Given the description of an element on the screen output the (x, y) to click on. 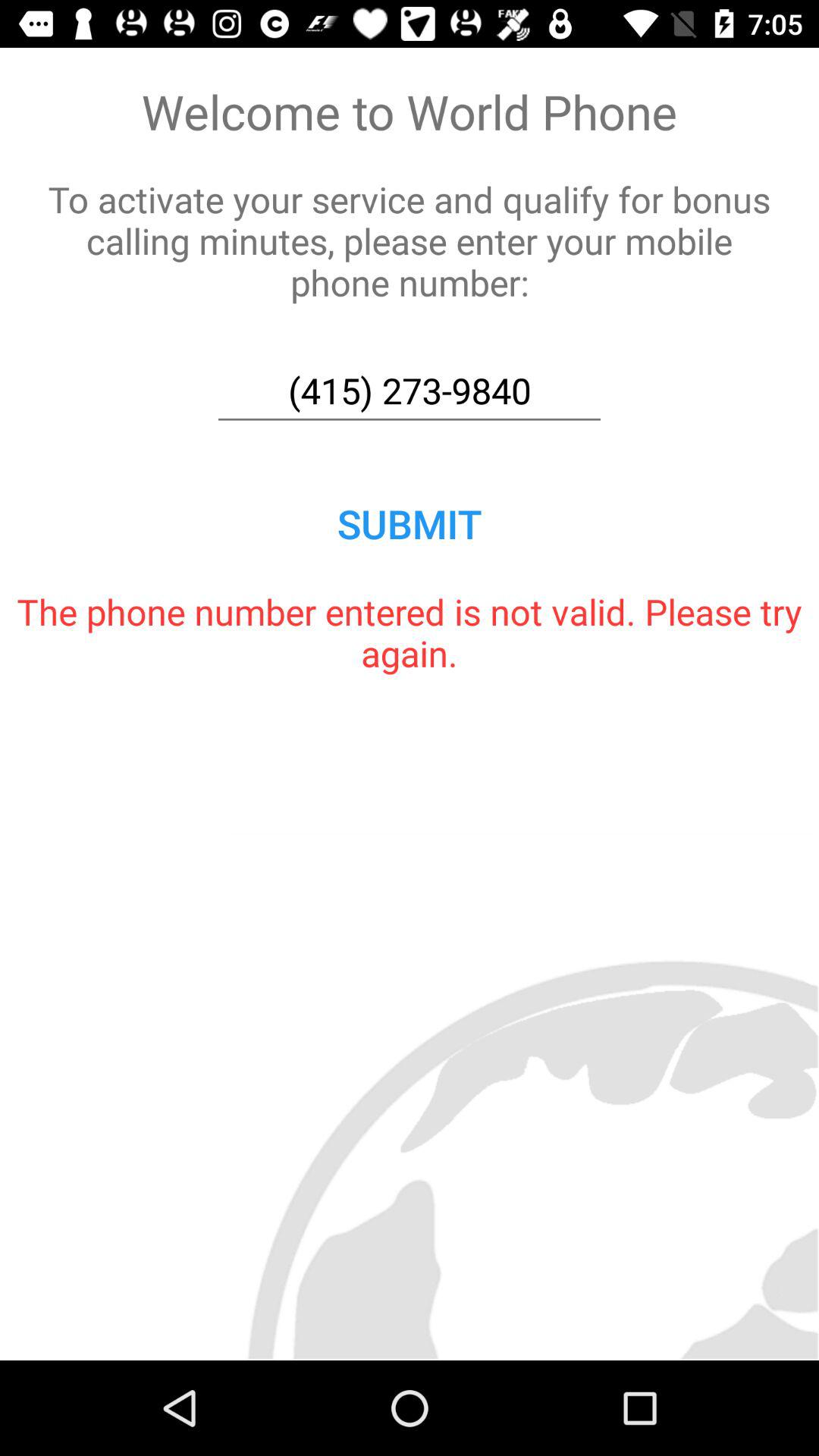
choose the icon above the phone number icon (409, 523)
